Given the description of an element on the screen output the (x, y) to click on. 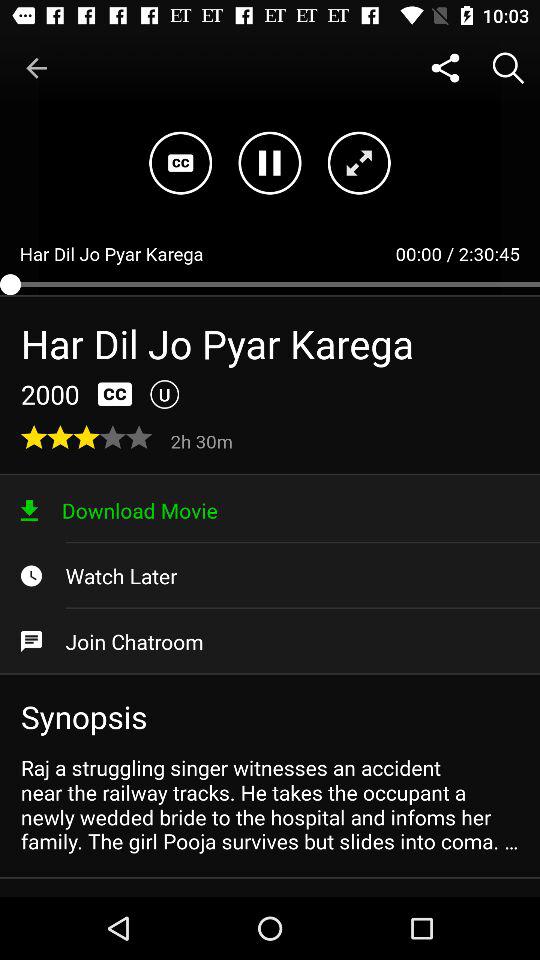
press item below the synopsis (270, 804)
